Given the description of an element on the screen output the (x, y) to click on. 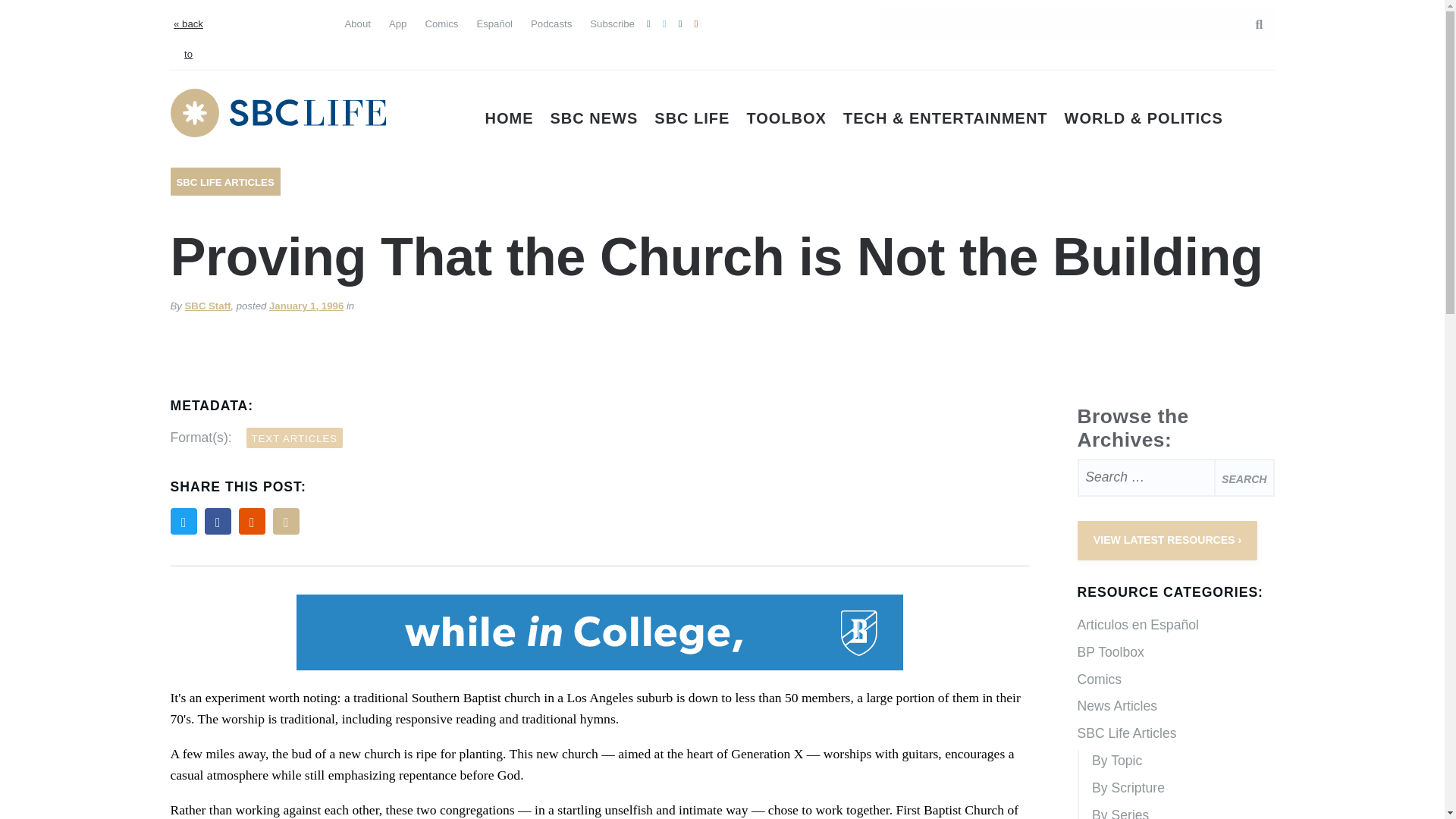
Korean (273, 51)
SBC Staff (207, 306)
Search (1251, 24)
SBC NEWS (594, 117)
About (356, 23)
TEXT ARTICLES (294, 437)
Spanish (246, 21)
Search (1244, 477)
VIEW LATEST RESOURCES (1167, 540)
Search (1244, 477)
